Given the description of an element on the screen output the (x, y) to click on. 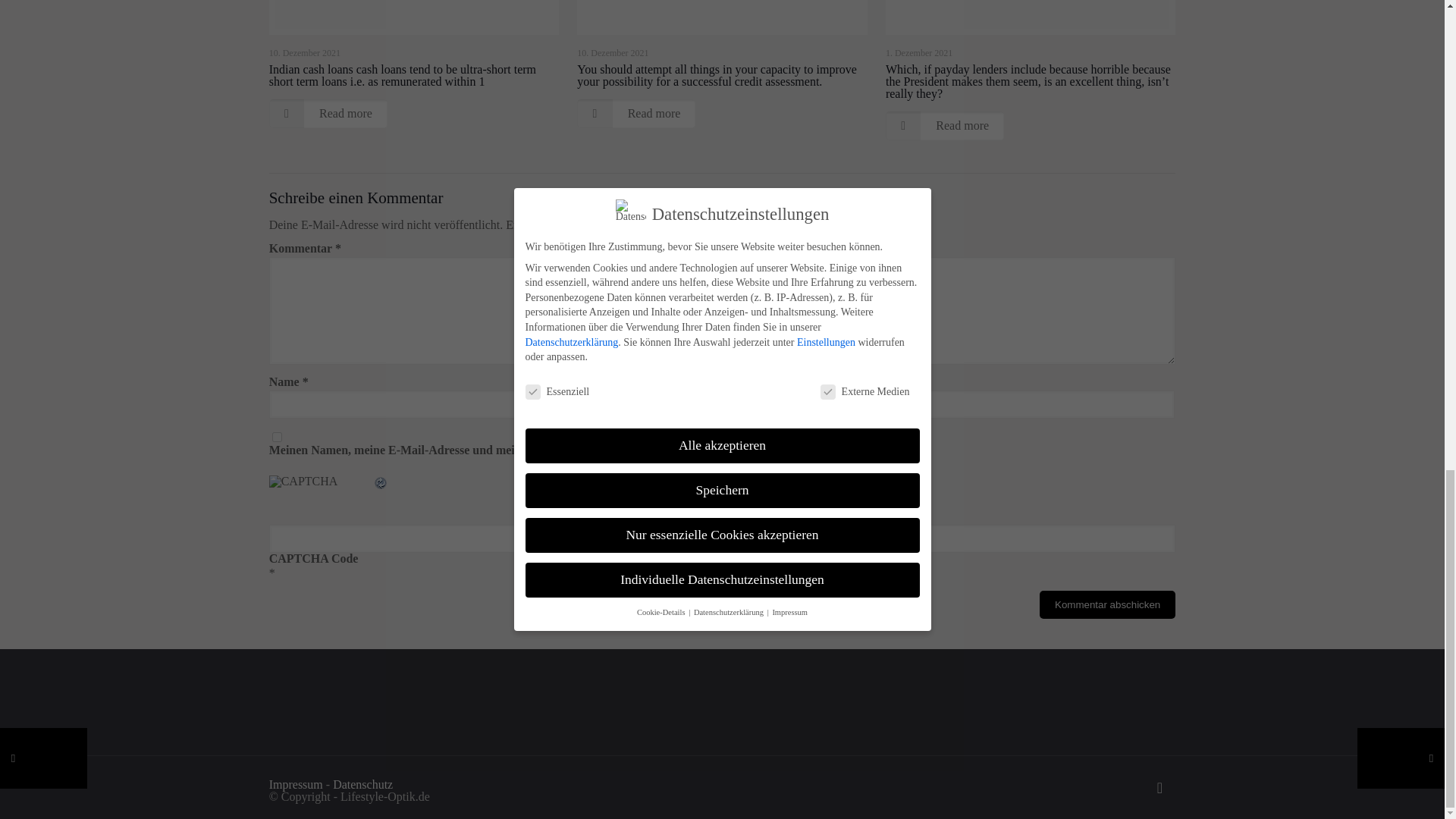
yes (277, 437)
Read more (944, 125)
Kommentar abschicken (1106, 604)
Datenschutz (363, 784)
Kommentar abschicken (1106, 604)
Impressum (296, 784)
CAPTCHA (320, 492)
Read more (328, 113)
